Given the description of an element on the screen output the (x, y) to click on. 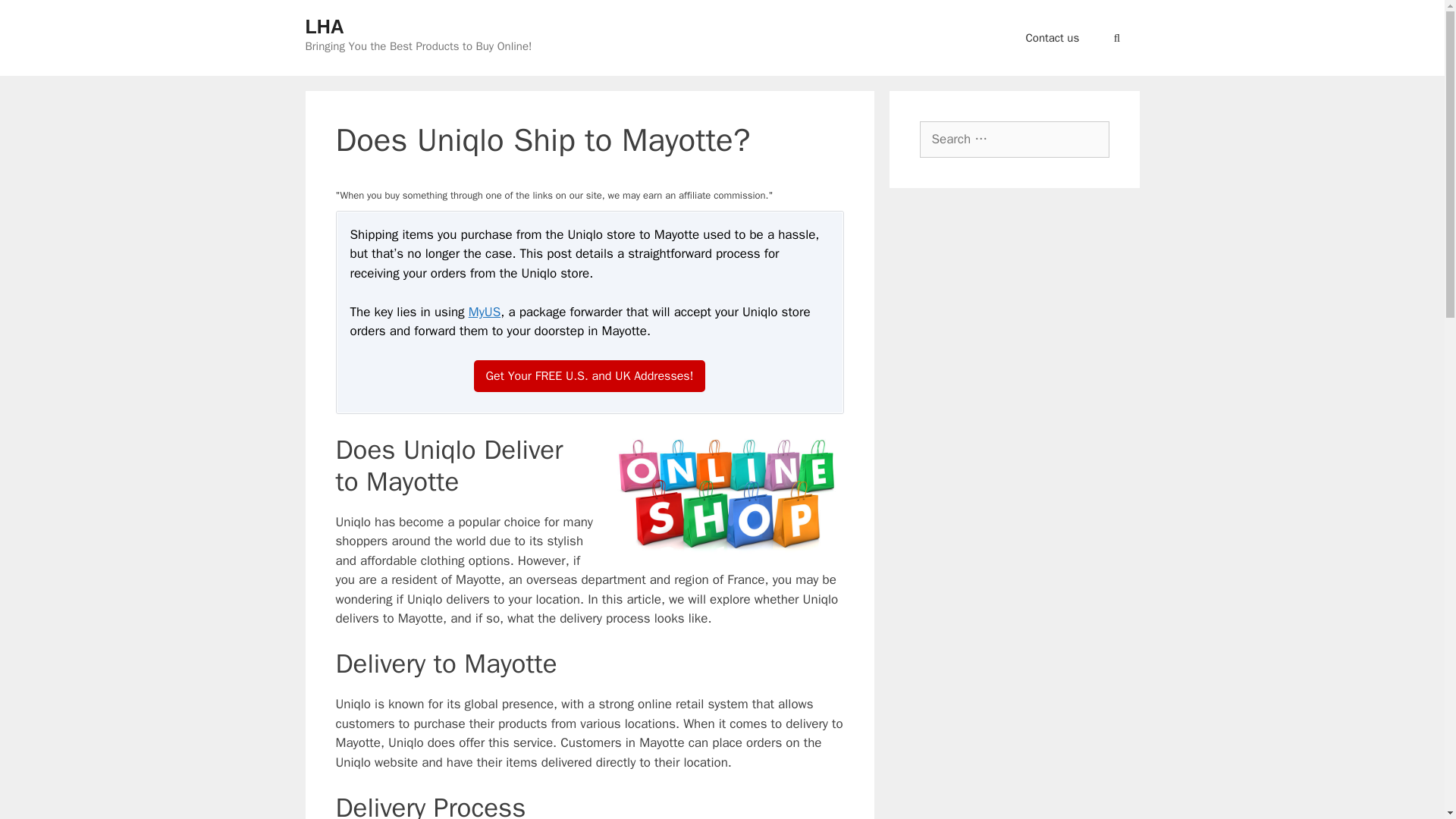
LHA (323, 25)
Search (33, 15)
Contact us (1052, 37)
Search for: (1013, 139)
Get Your FREE U.S. and UK Addresses! (590, 376)
MyUS (484, 311)
